Given the description of an element on the screen output the (x, y) to click on. 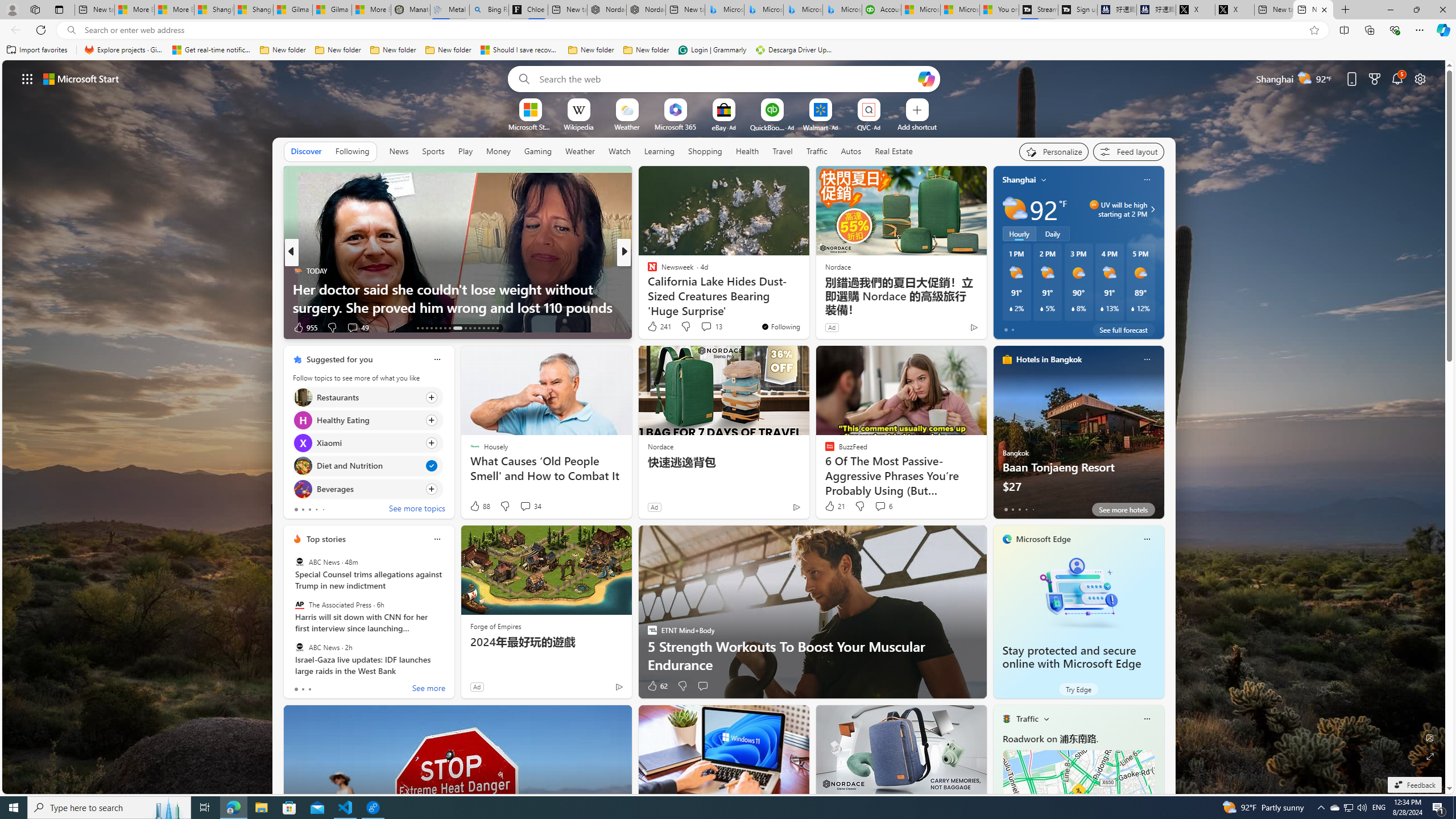
See more topics (416, 509)
Personalize your feed" (1054, 151)
Health (746, 151)
Business Insider (647, 270)
Streaming Coverage | T3 (1037, 9)
AutomationID: tab-17 (435, 328)
tab-3 (1025, 509)
tab-0 (295, 689)
News (398, 151)
